Given the description of an element on the screen output the (x, y) to click on. 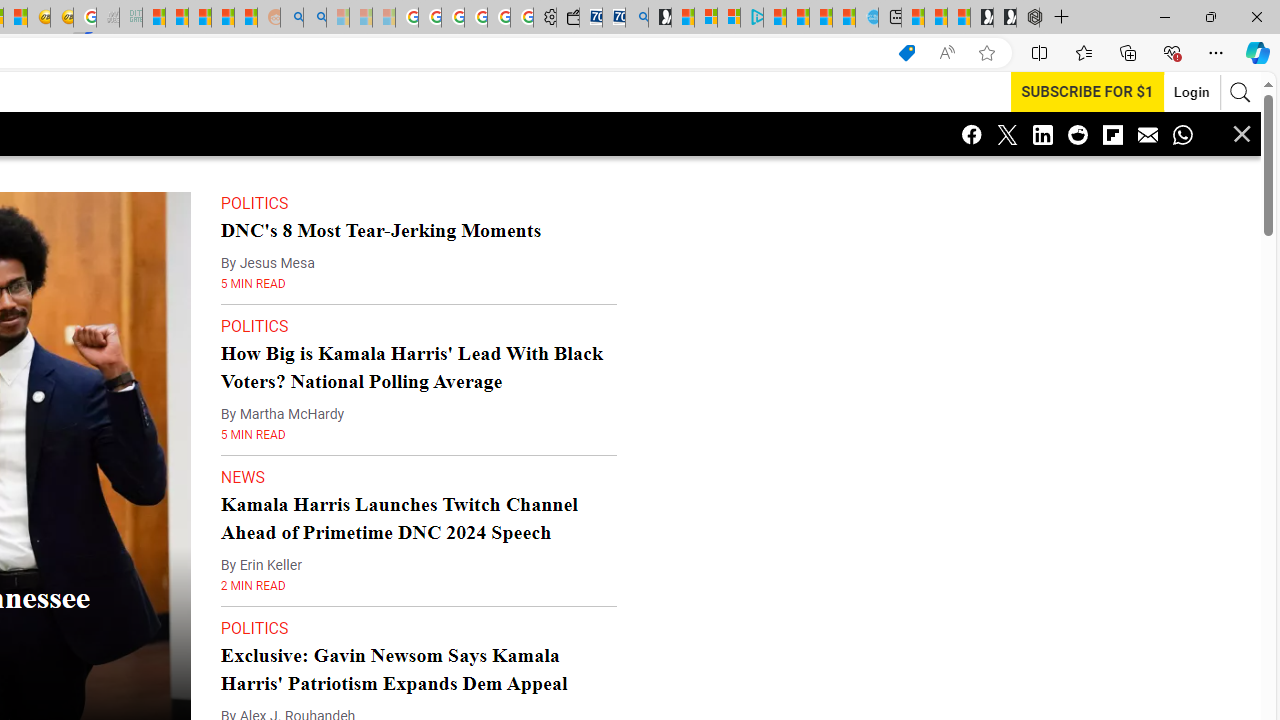
Subscribe to our service (1087, 91)
Login (1192, 92)
POLITICS (254, 628)
Class: icon-facebook (971, 133)
Utah sues federal government - Search (314, 17)
